Given the description of an element on the screen output the (x, y) to click on. 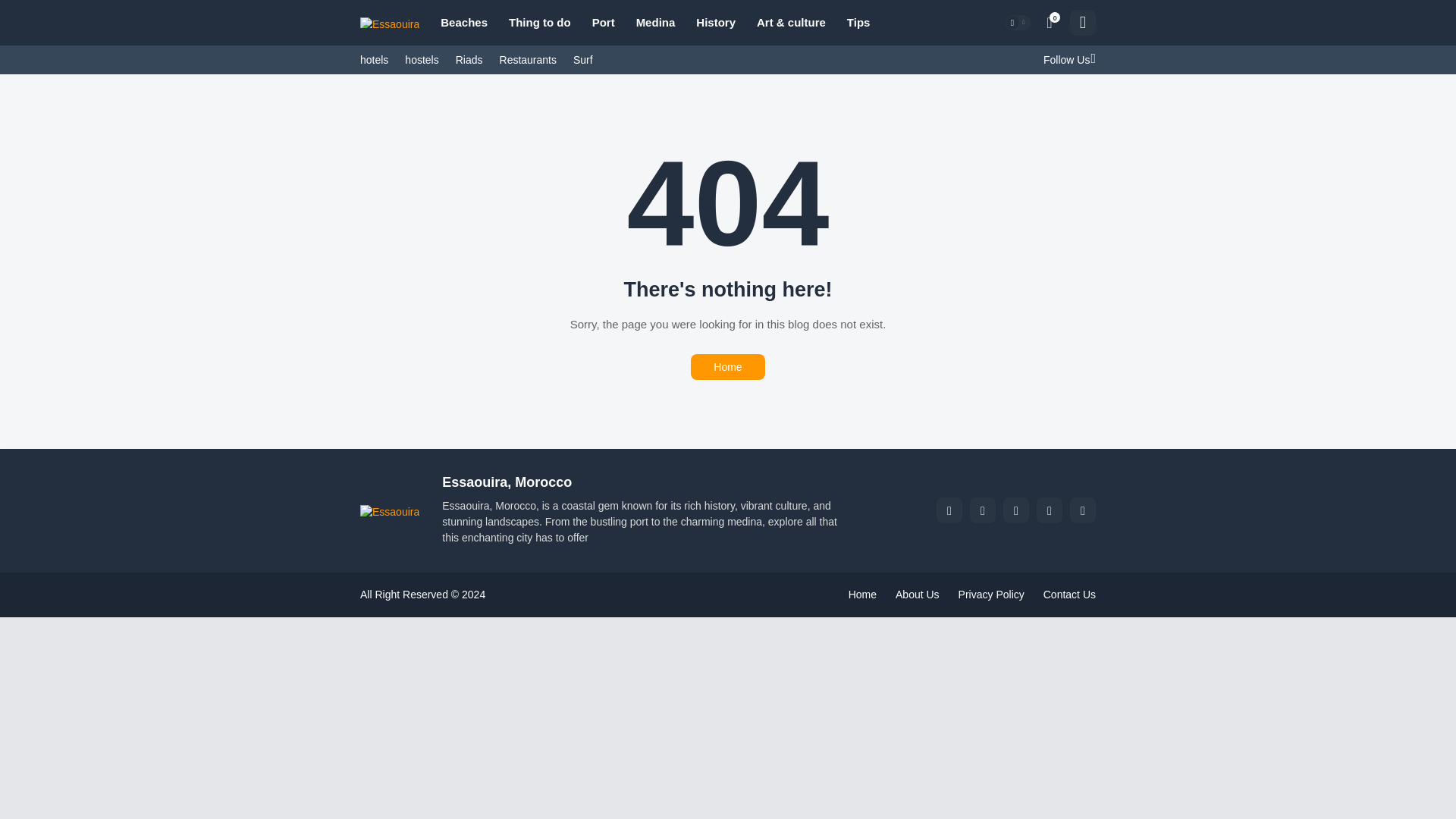
twitter (982, 510)
Home (727, 366)
History (715, 22)
pinterest (1083, 510)
youtube (1016, 510)
Essaouira (389, 22)
Restaurants (527, 59)
Tips (857, 22)
hostels (421, 59)
Contact Us (1069, 594)
facebook (949, 510)
Follow Us (1065, 59)
Thing to do (538, 22)
Home (862, 594)
Port (603, 22)
